Given the description of an element on the screen output the (x, y) to click on. 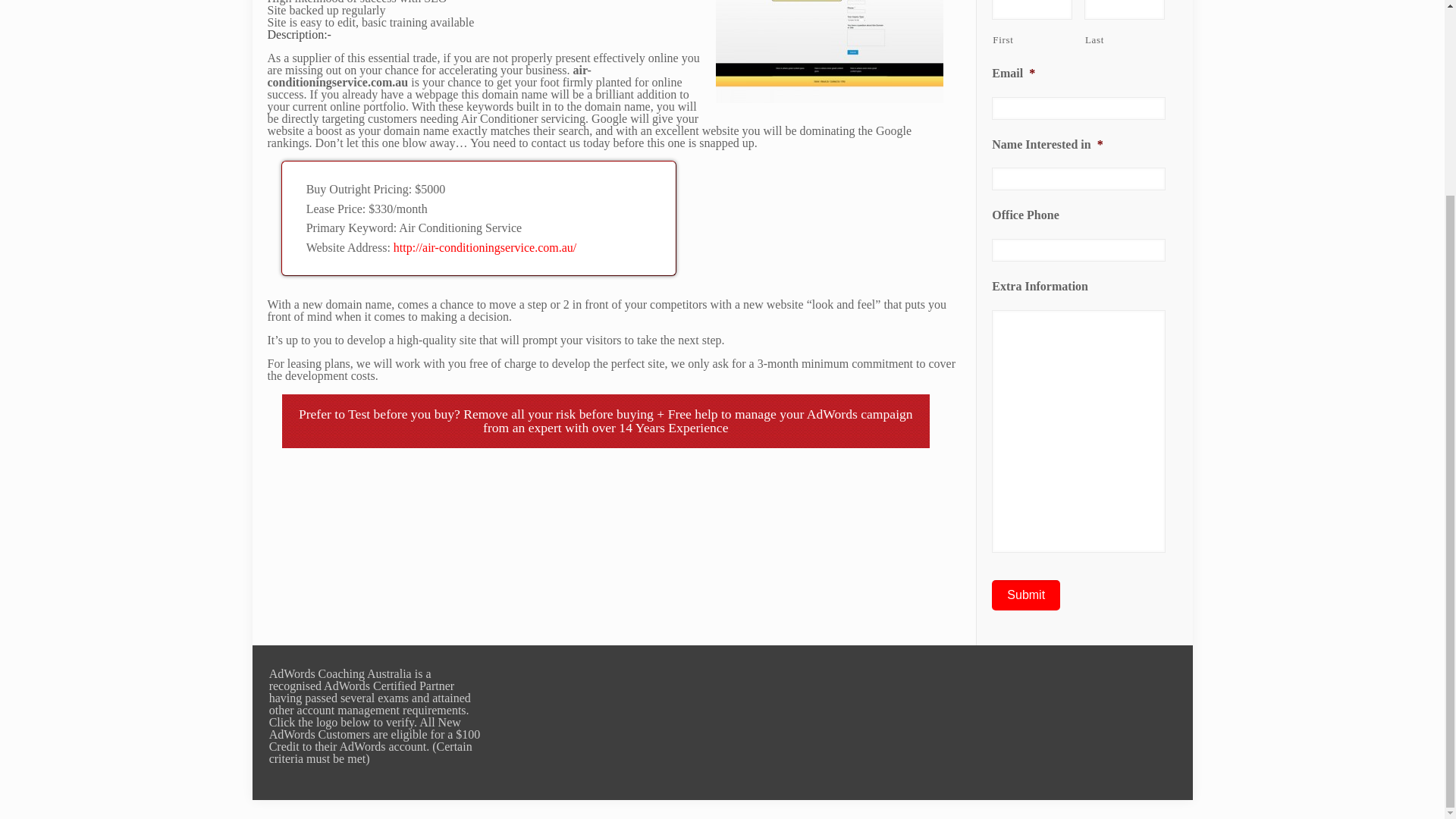
Test Before Buying (403, 413)
Submit (1025, 594)
Submit (1025, 594)
Test before you buy? (403, 413)
